Given the description of an element on the screen output the (x, y) to click on. 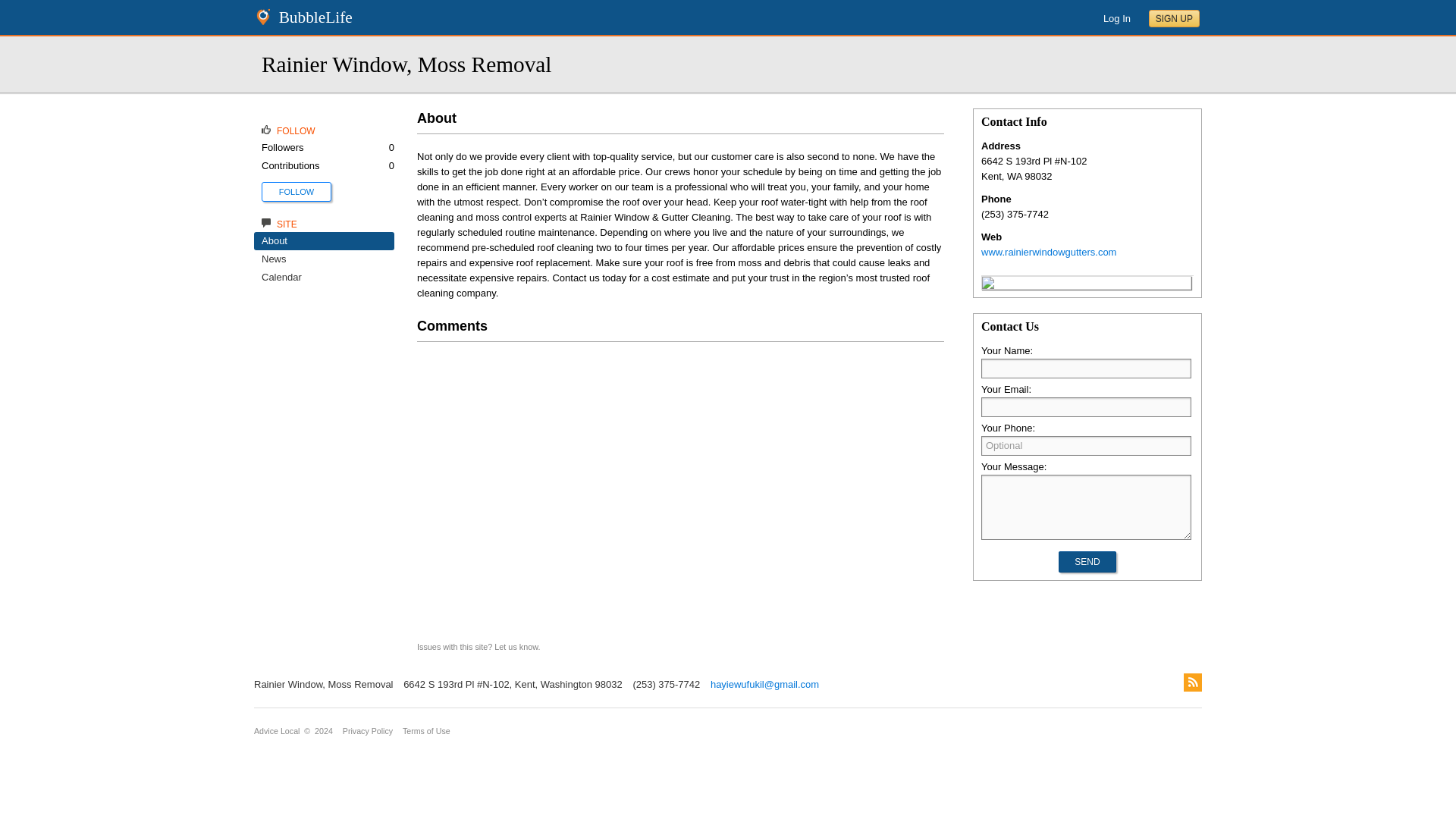
Rainier Window, Moss Removal (406, 63)
Calendar (281, 276)
www.rainierwindowgutters.com (1048, 251)
About (274, 240)
FOLLOW (296, 191)
Rainier Window, Moss Removal (406, 63)
News (274, 258)
Email us (760, 684)
Issues with this site? Let us know. (478, 646)
Send (1086, 561)
Sign up for free (1173, 18)
Log In (1117, 18)
Already have a BubbleLife account? (1117, 18)
Rainier Window, Moss Removal (987, 285)
Get updates of new contributions (296, 191)
